Given the description of an element on the screen output the (x, y) to click on. 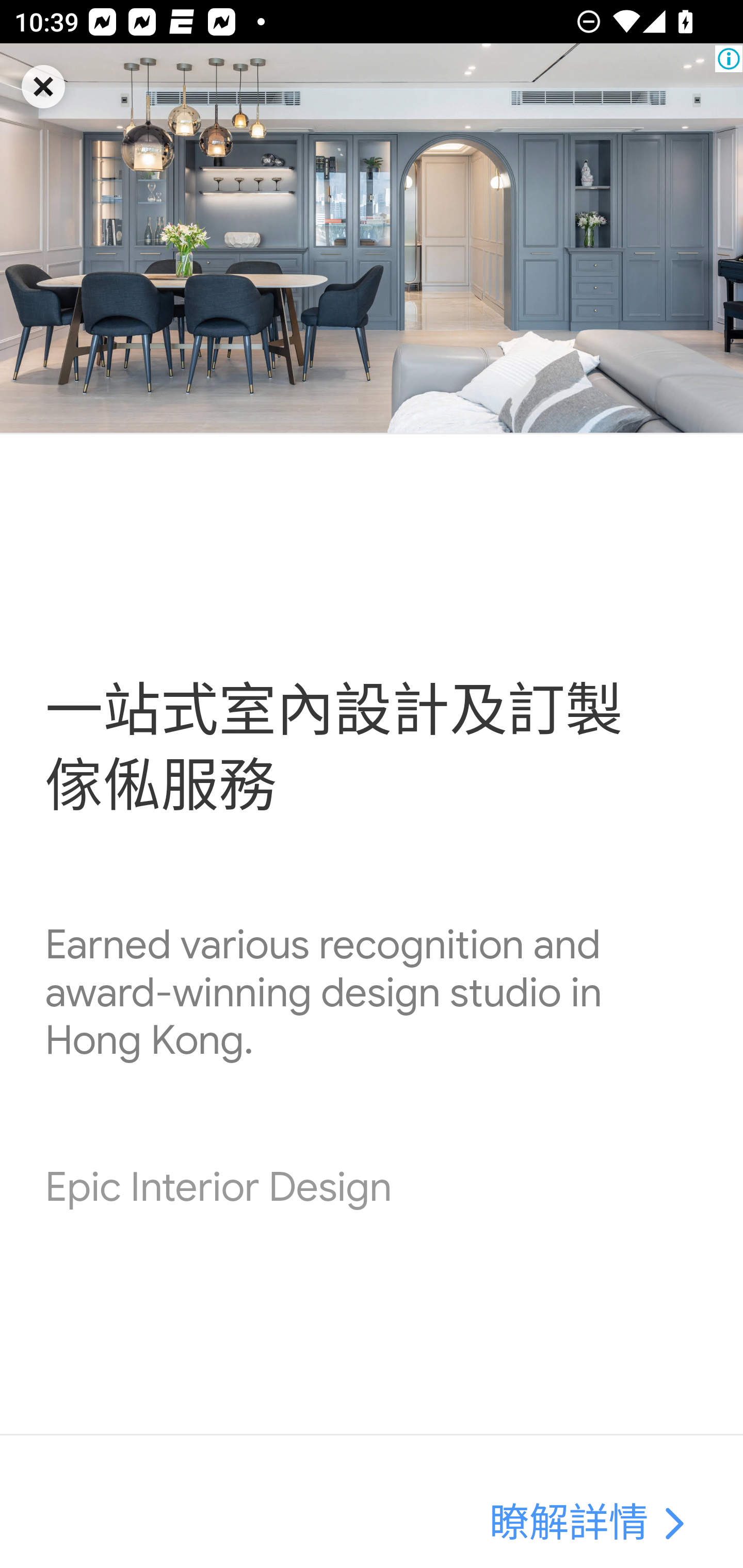
www.epicinterior (371, 237)
一站式室內設計及訂製 傢俬服務 一站式室內設計及訂製 傢俬服務 (333, 749)
Epic Interior Design (218, 1187)
瞭解詳情 (568, 1524)
www.epicinterior (673, 1524)
